Given the description of an element on the screen output the (x, y) to click on. 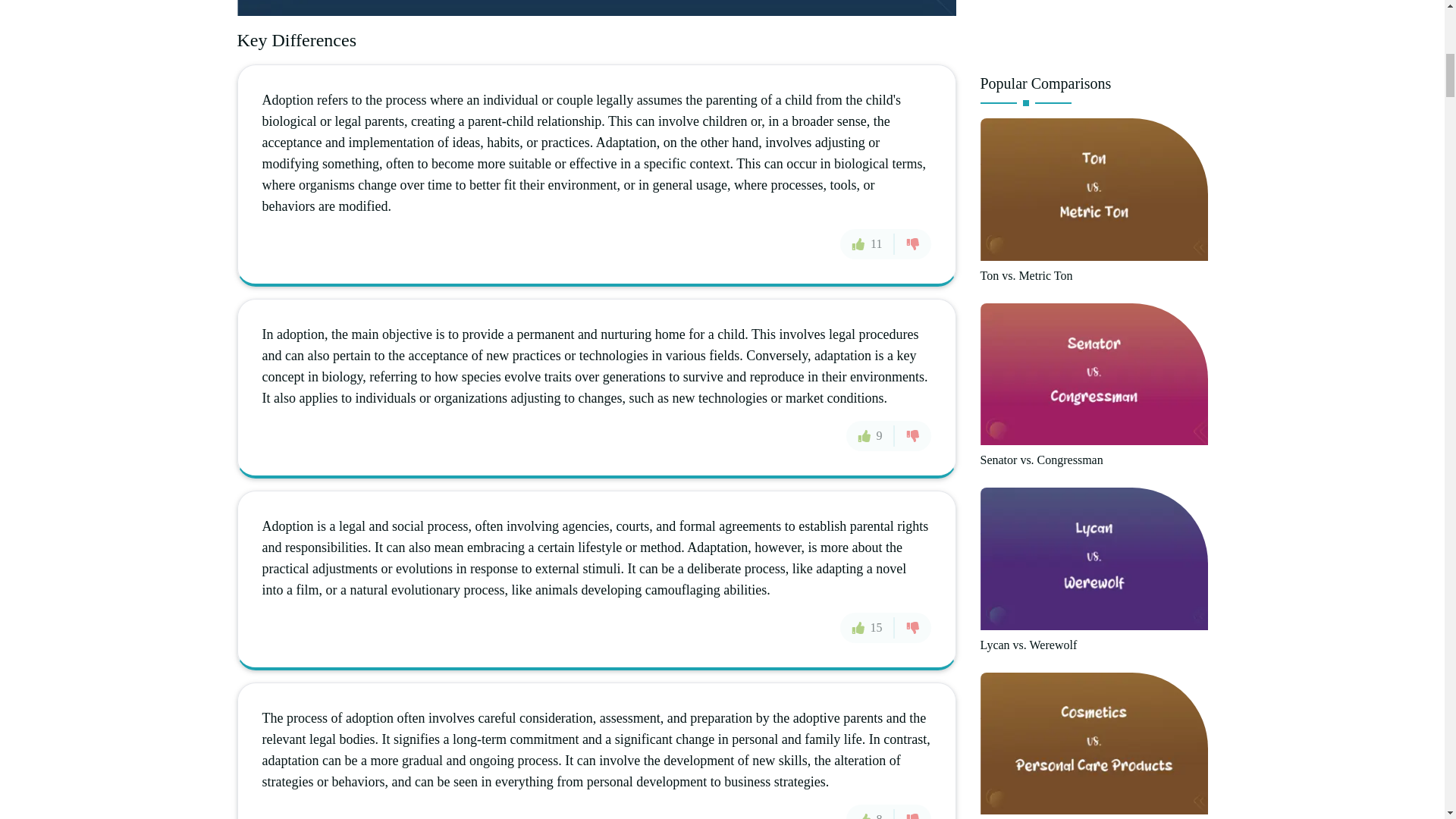
8 (870, 811)
11 (866, 244)
9 (870, 435)
15 (867, 627)
Advertisement (1093, 30)
